Given the description of an element on the screen output the (x, y) to click on. 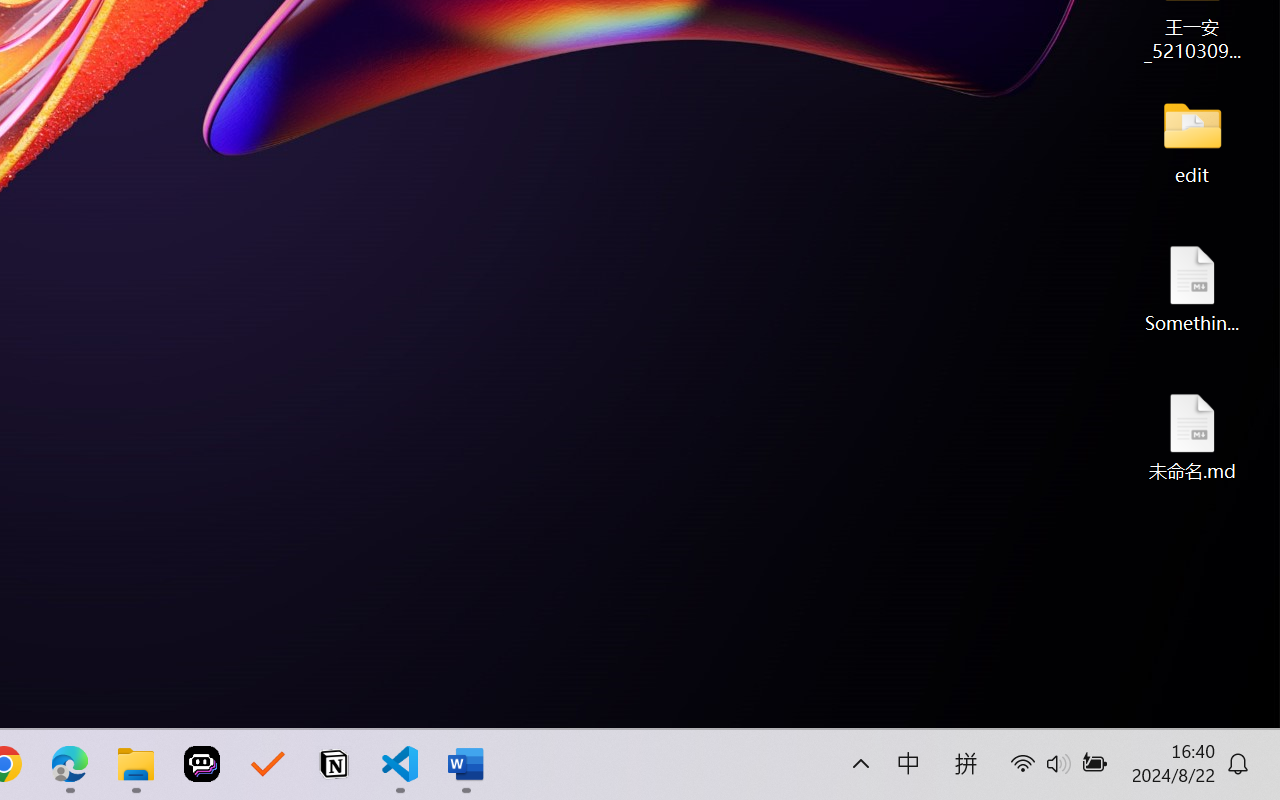
Notion (333, 764)
Poe (201, 764)
